Given the description of an element on the screen output the (x, y) to click on. 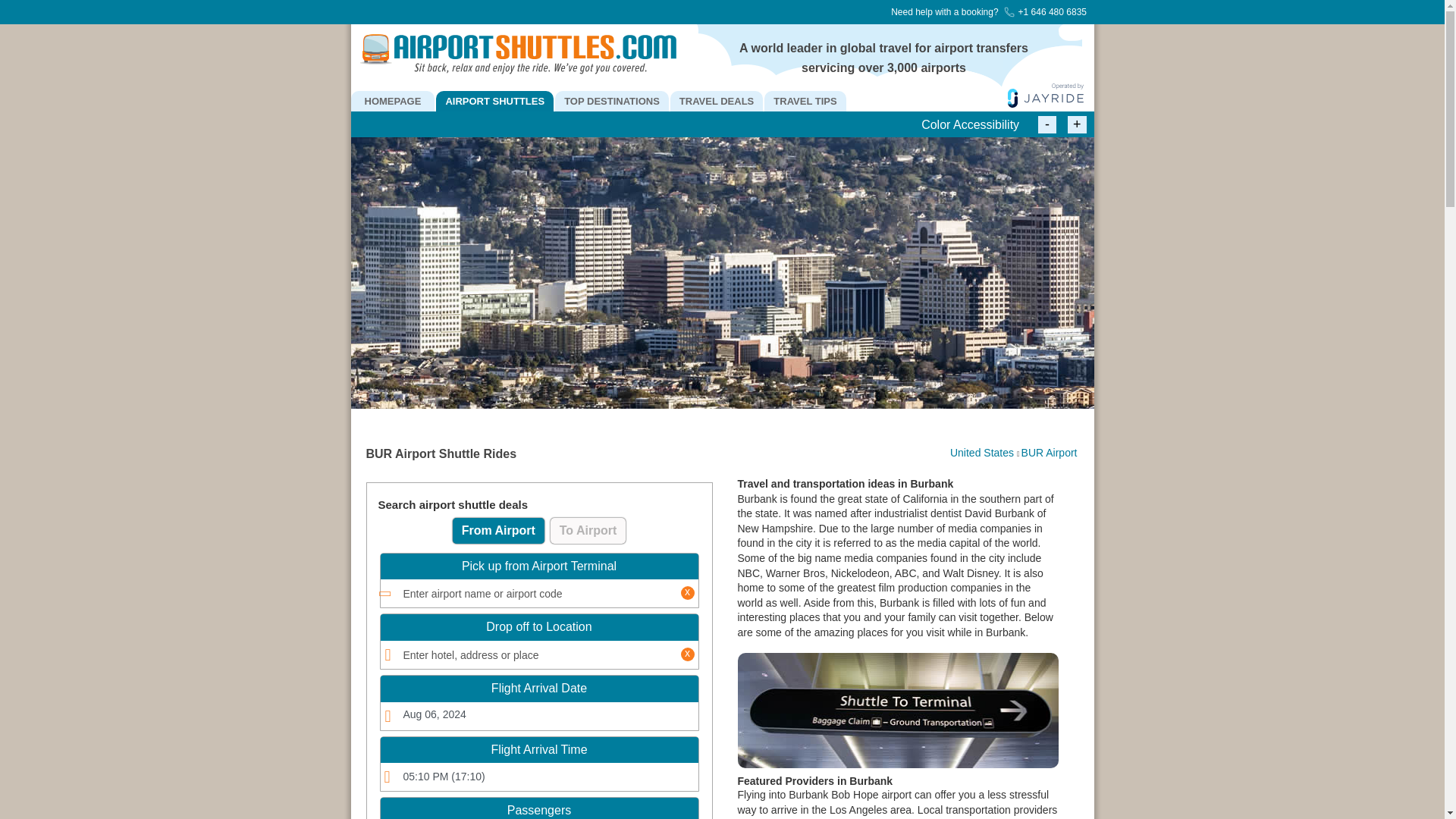
17:10 (539, 777)
TRAVEL TIPS (804, 100)
United States (981, 452)
2024-08-06 (539, 715)
BUR Airport (1049, 452)
HOMEPAGE (391, 100)
- (1047, 124)
To Airport (588, 530)
TRAVEL DEALS (715, 100)
Color Accessibility (970, 124)
TOP DESTINATIONS (611, 100)
From Airport (498, 530)
AIRPORT SHUTTLES (494, 100)
